Given the description of an element on the screen output the (x, y) to click on. 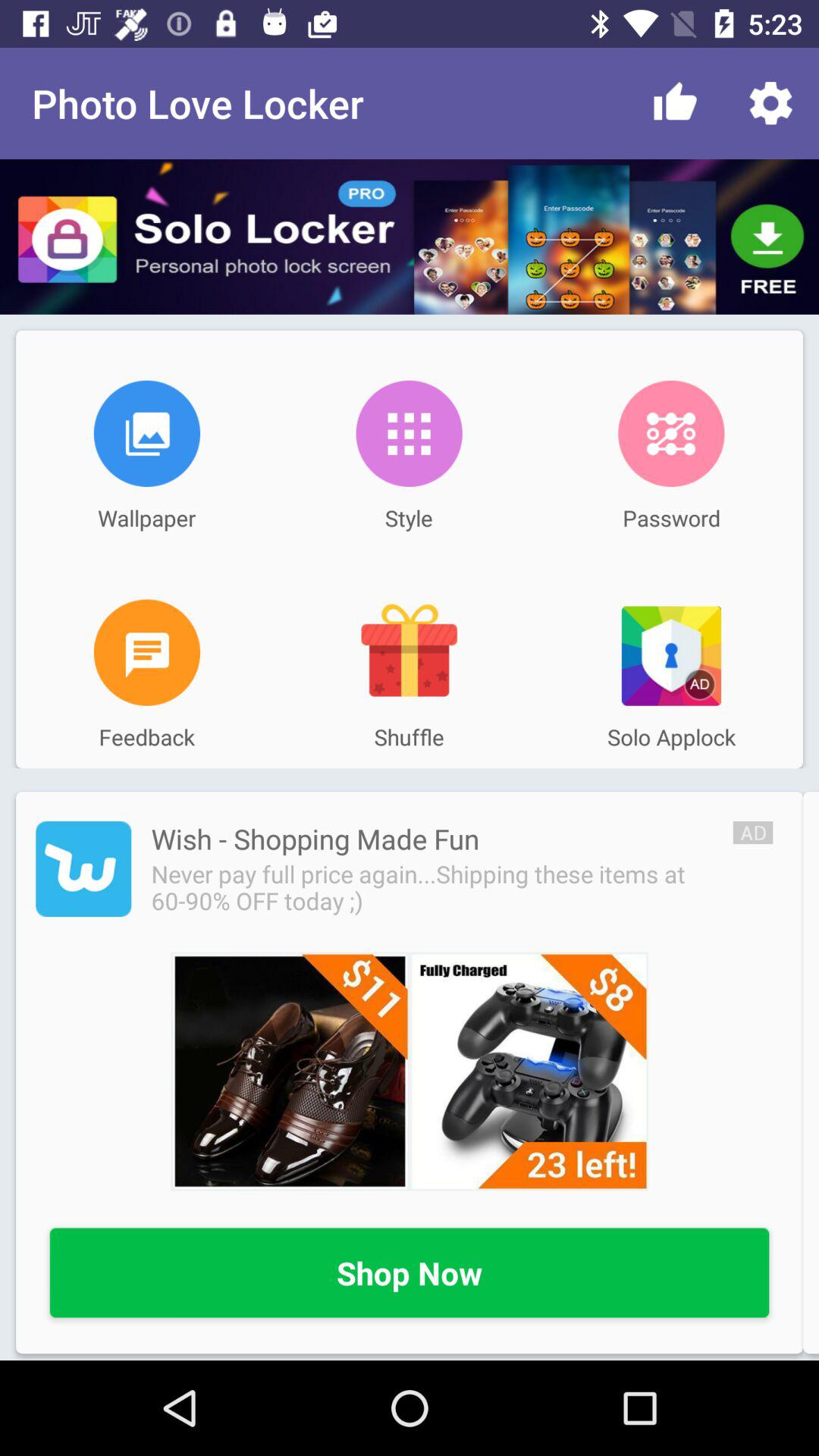
open wallpaper (146, 433)
